Given the description of an element on the screen output the (x, y) to click on. 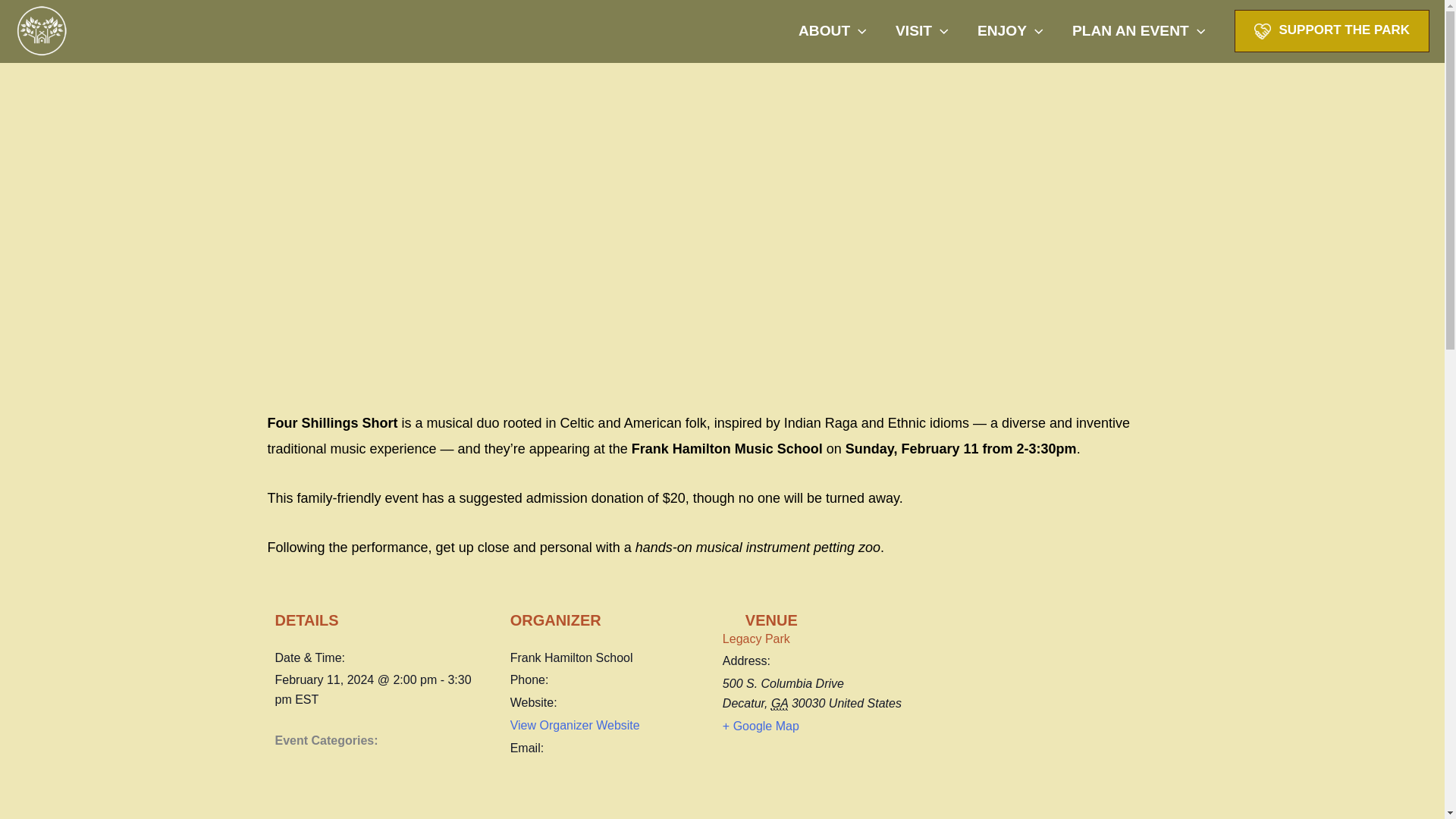
Click to view a Google Map (760, 725)
SUPPORT THE PARK (1331, 30)
Google maps iframe displaying the address to Legacy Park (946, 779)
VISIT (921, 30)
Georgia (780, 703)
ENJOY (1010, 30)
ABOUT (832, 30)
PLAN AN EVENT (1139, 30)
